Given the description of an element on the screen output the (x, y) to click on. 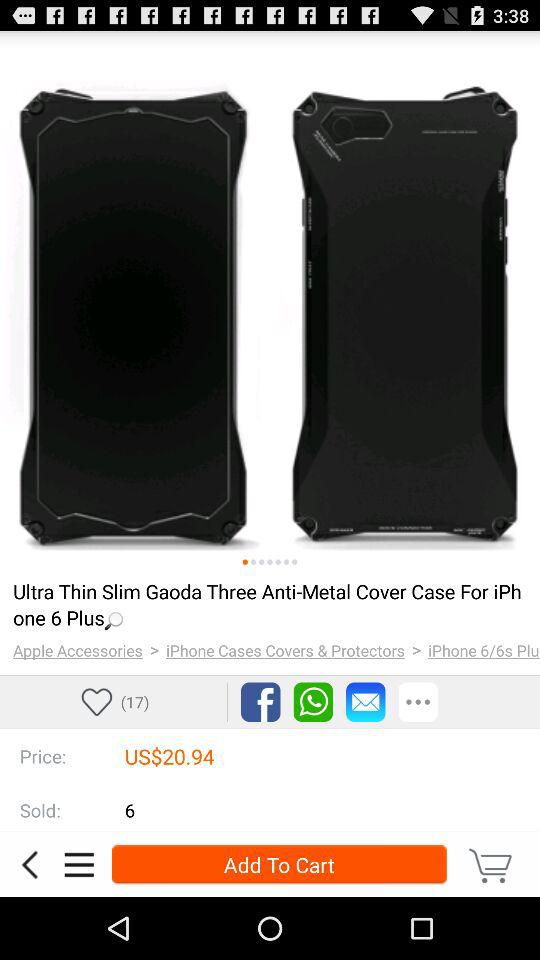
display more sharing options (418, 701)
